Given the description of an element on the screen output the (x, y) to click on. 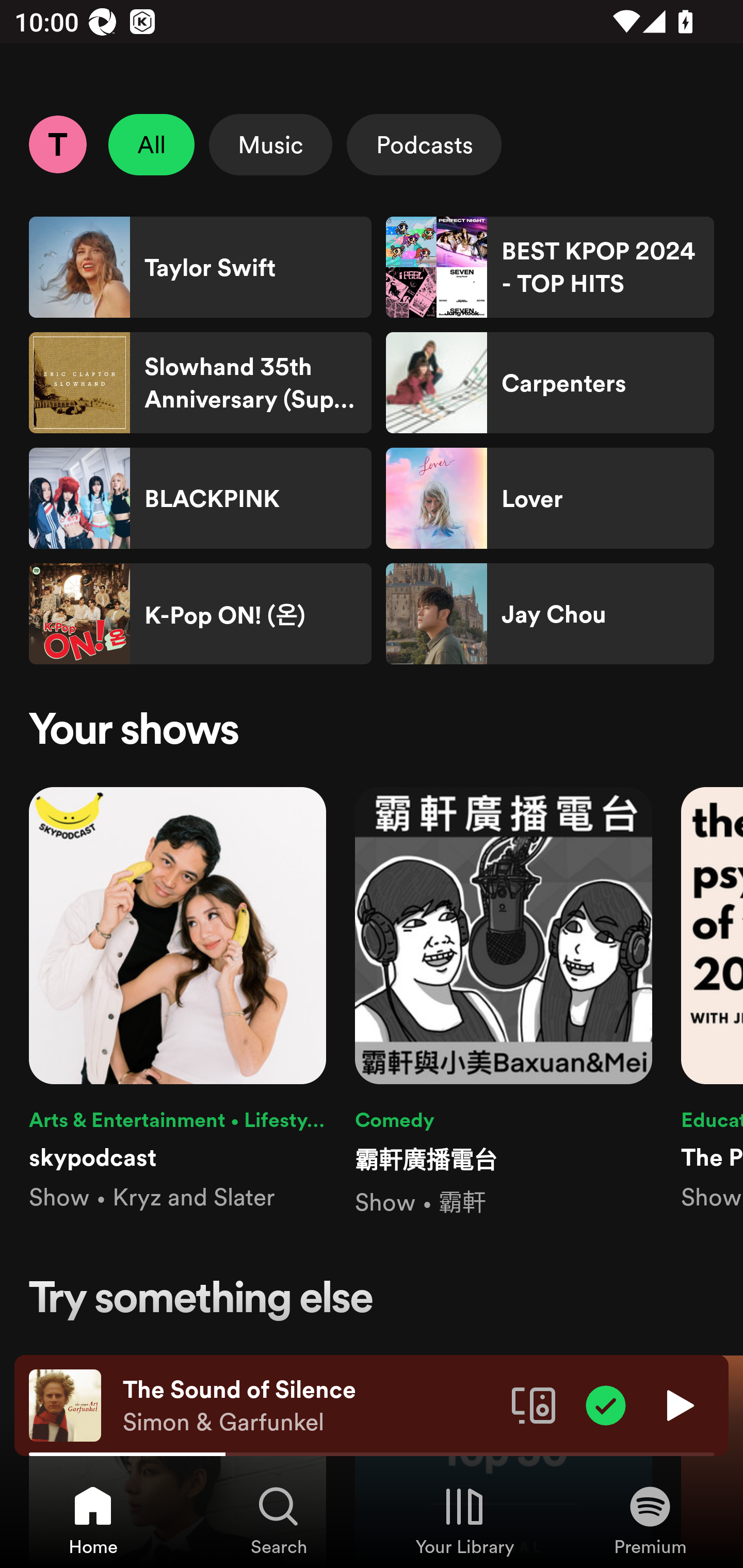
Profile (57, 144)
All Unselect All (151, 144)
Music Select Music (270, 144)
Podcasts Select Podcasts (423, 144)
Taylor Swift Shortcut Taylor Swift (199, 267)
Carpenters Shortcut Carpenters (549, 382)
BLACKPINK Shortcut BLACKPINK (199, 498)
Lover Shortcut Lover (549, 498)
K-Pop ON! (온) Shortcut K-Pop ON! (온) (199, 613)
Jay Chou Shortcut Jay Chou (549, 613)
Comedy 霸軒廣播電台 Show • 霸軒 (503, 1002)
The Sound of Silence Simon & Garfunkel (309, 1405)
The cover art of the currently playing track (64, 1404)
Connect to a device. Opens the devices menu (533, 1404)
Item added (605, 1404)
Play (677, 1404)
Home, Tab 1 of 4 Home Home (92, 1519)
Search, Tab 2 of 4 Search Search (278, 1519)
Your Library, Tab 3 of 4 Your Library Your Library (464, 1519)
Premium, Tab 4 of 4 Premium Premium (650, 1519)
